Given the description of an element on the screen output the (x, y) to click on. 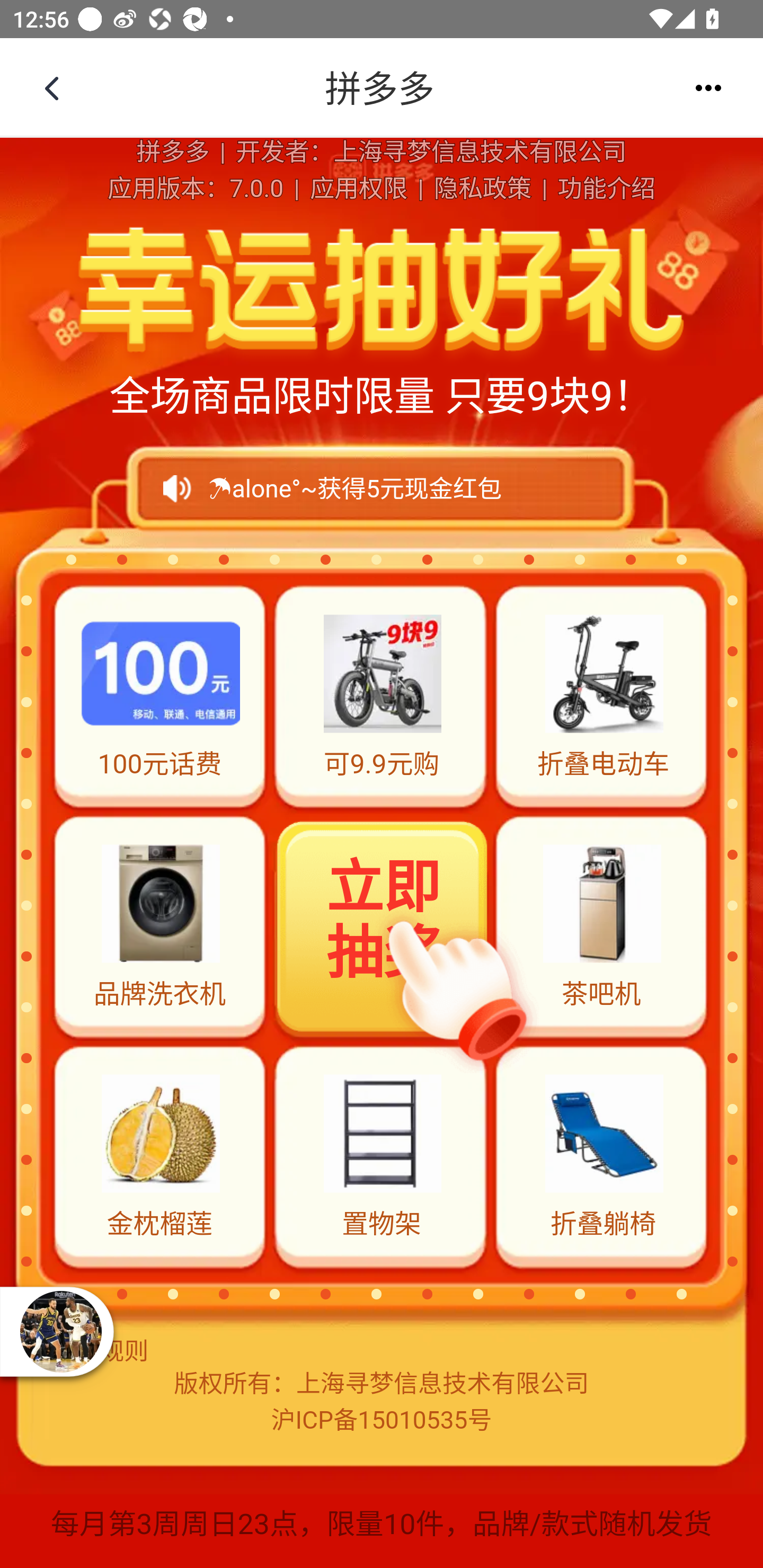
更多 (708, 87)
立即抽奖 (382, 924)
播放器 (60, 1331)
